Given the description of an element on the screen output the (x, y) to click on. 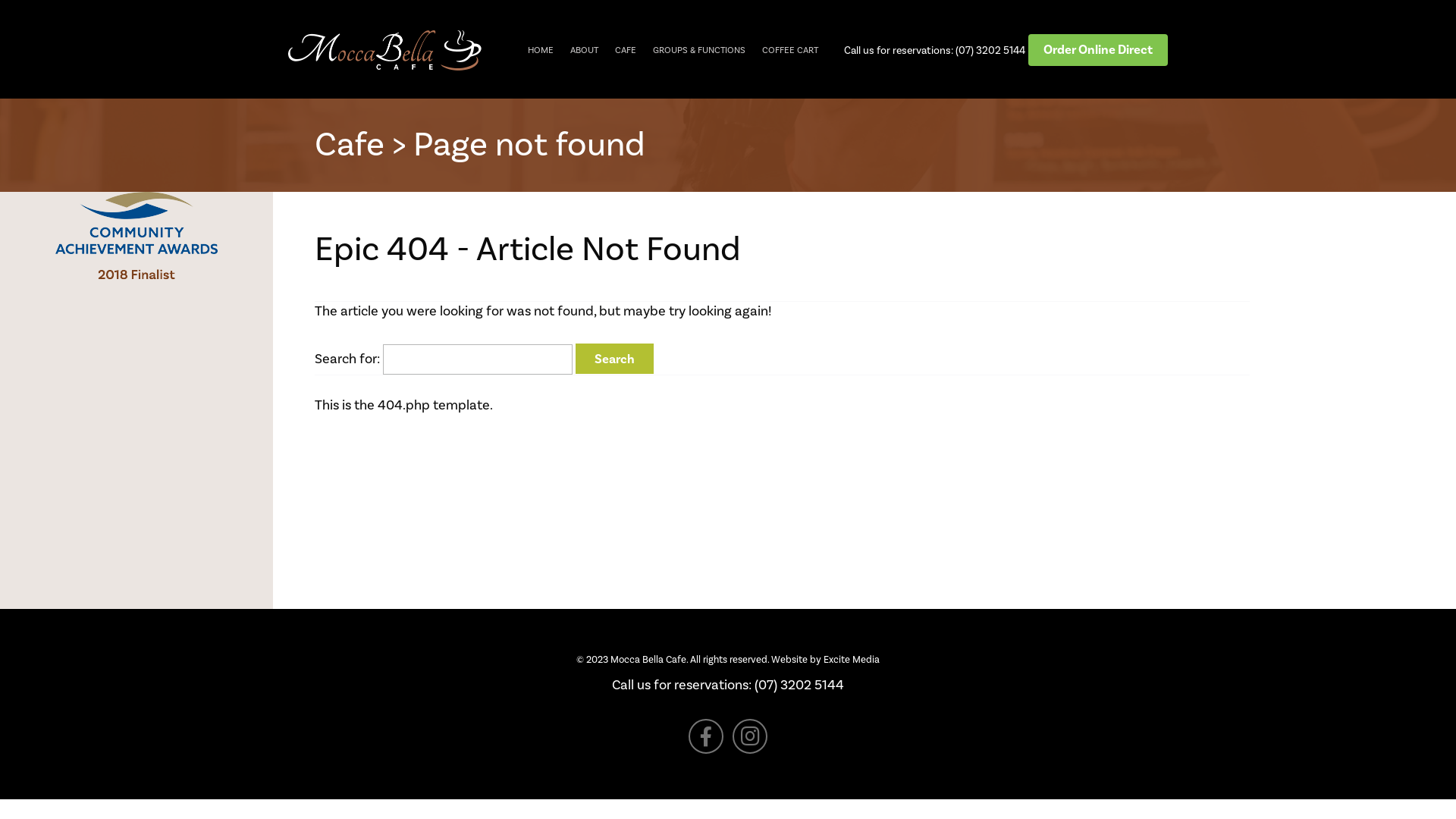
COFFEE CART Element type: text (790, 49)
HOME Element type: text (540, 49)
Excite Media Element type: text (851, 659)
ABOUT Element type: text (584, 49)
CAFE Element type: text (625, 49)
Search Element type: text (614, 358)
GROUPS & FUNCTIONS Element type: text (699, 49)
Order Online Direct Element type: text (1097, 49)
